Given the description of an element on the screen output the (x, y) to click on. 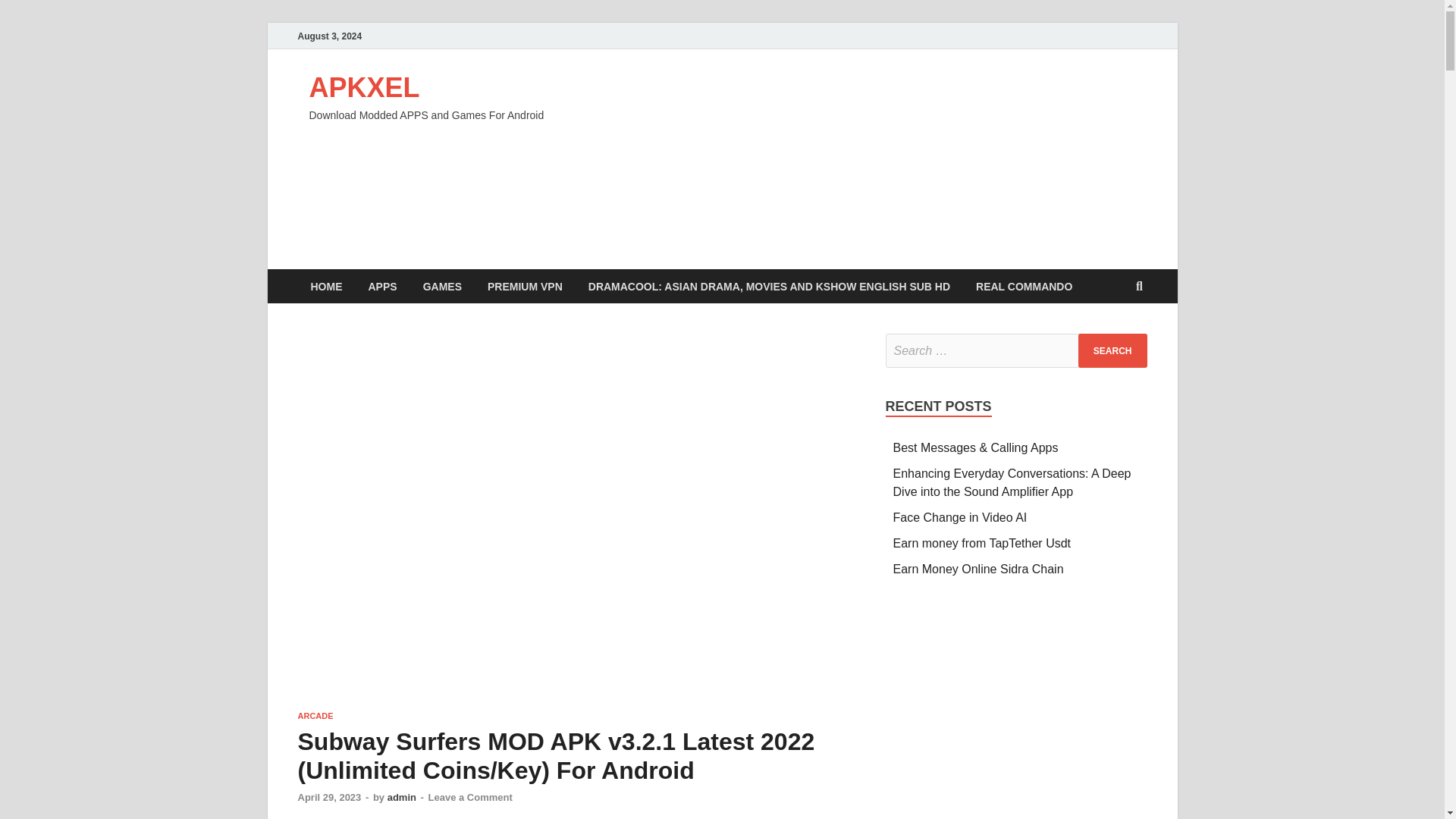
APPS (382, 286)
APKXEL (364, 87)
April 29, 2023 (329, 797)
REAL COMMANDO (1023, 286)
Leave a Comment (470, 797)
HOME (326, 286)
DRAMACOOL: ASIAN DRAMA, MOVIES AND KSHOW ENGLISH SUB HD (768, 286)
Search (1112, 350)
ARCADE (315, 715)
PREMIUM VPN (524, 286)
GAMES (442, 286)
admin (401, 797)
Search (1112, 350)
